Given the description of an element on the screen output the (x, y) to click on. 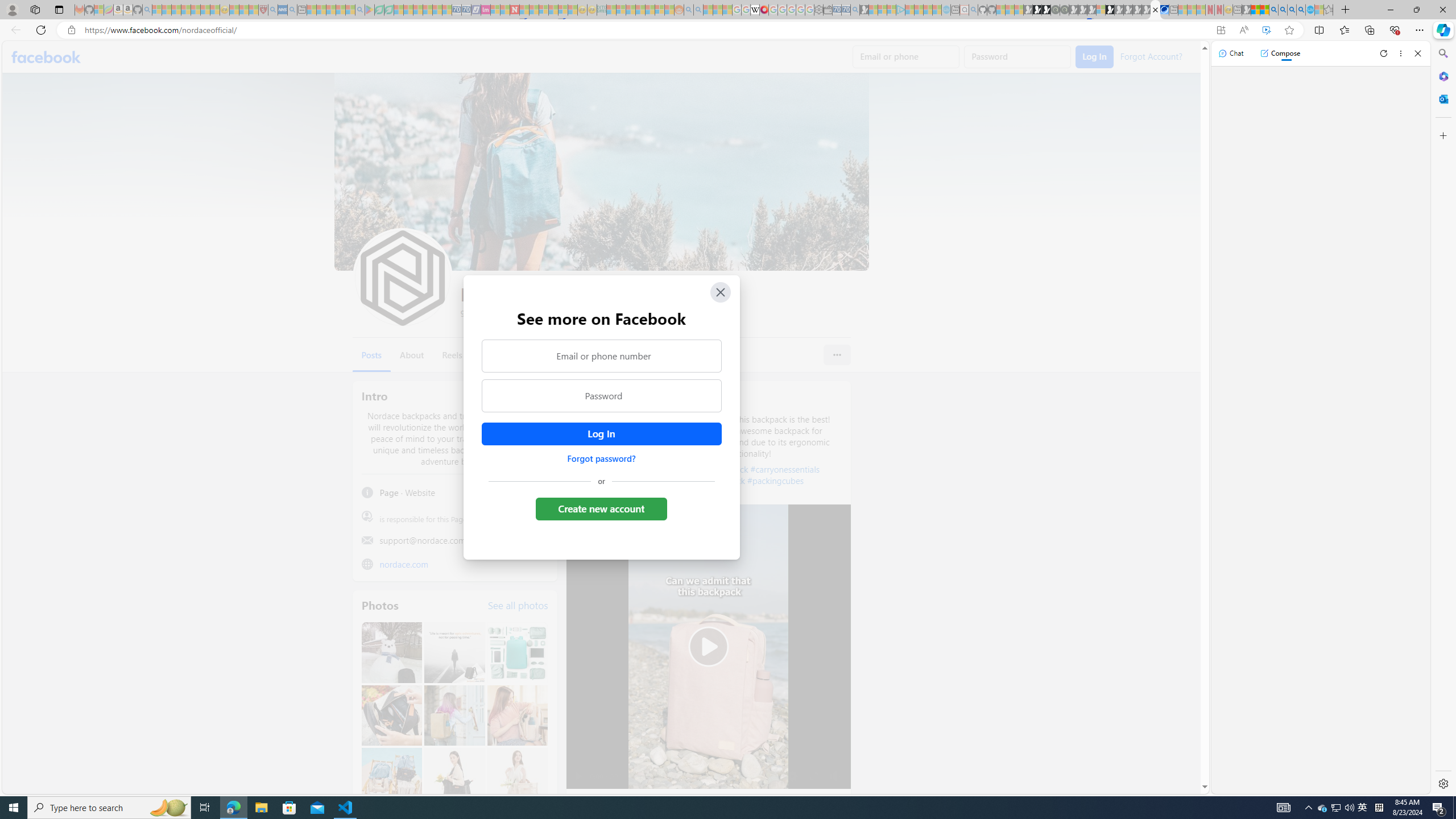
Services - Maintenance | Sky Blue Bikes - Sky Blue Bikes (1309, 9)
Google Chrome Internet Browser Download - Search Images (1300, 9)
App available. Install Facebook (1220, 29)
Target page - Wikipedia (754, 9)
